Given the description of an element on the screen output the (x, y) to click on. 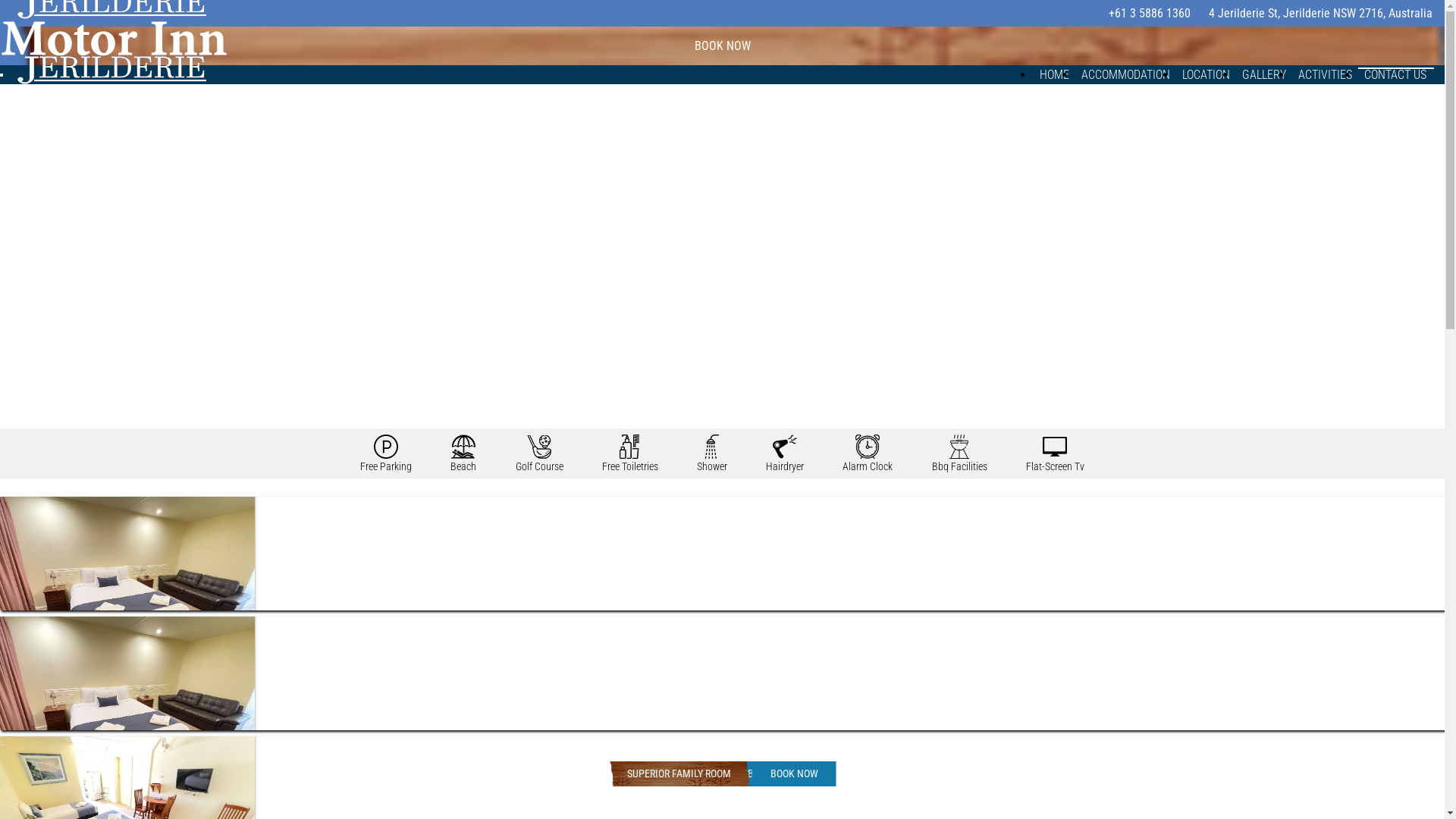
Jerilderie Motor Inn Element type: hover (113, 88)
BOOK NOW Element type: text (788, 773)
TWIN ROOM Element type: text (678, 773)
GALLERY Element type: text (1264, 74)
BOOK NOW Element type: text (767, 773)
BOOK NOW Element type: text (794, 773)
CONTACT US Element type: text (1395, 74)
DELUXE KING ROOM Element type: text (678, 773)
BOOK NOW Element type: text (771, 773)
SUPERIOR FAMILY ROOM Element type: text (678, 773)
ACTIVITIES Element type: text (1325, 74)
 4 Jerilderie St, Jerilderie NSW 2716, Australia Element type: text (1318, 13)
BOOK NOW Element type: text (785, 773)
BOOK NOW Element type: text (722, 45)
HOME Element type: text (1054, 74)
FAMILY ROOM Element type: text (678, 773)
LOCATION Element type: text (1206, 74)
DELUXE QUEEN ROOM Element type: text (678, 773)
 +61 3 5886 1360 Element type: text (1147, 13)
ACCOMMODATION Element type: text (1125, 74)
